Given the description of an element on the screen output the (x, y) to click on. 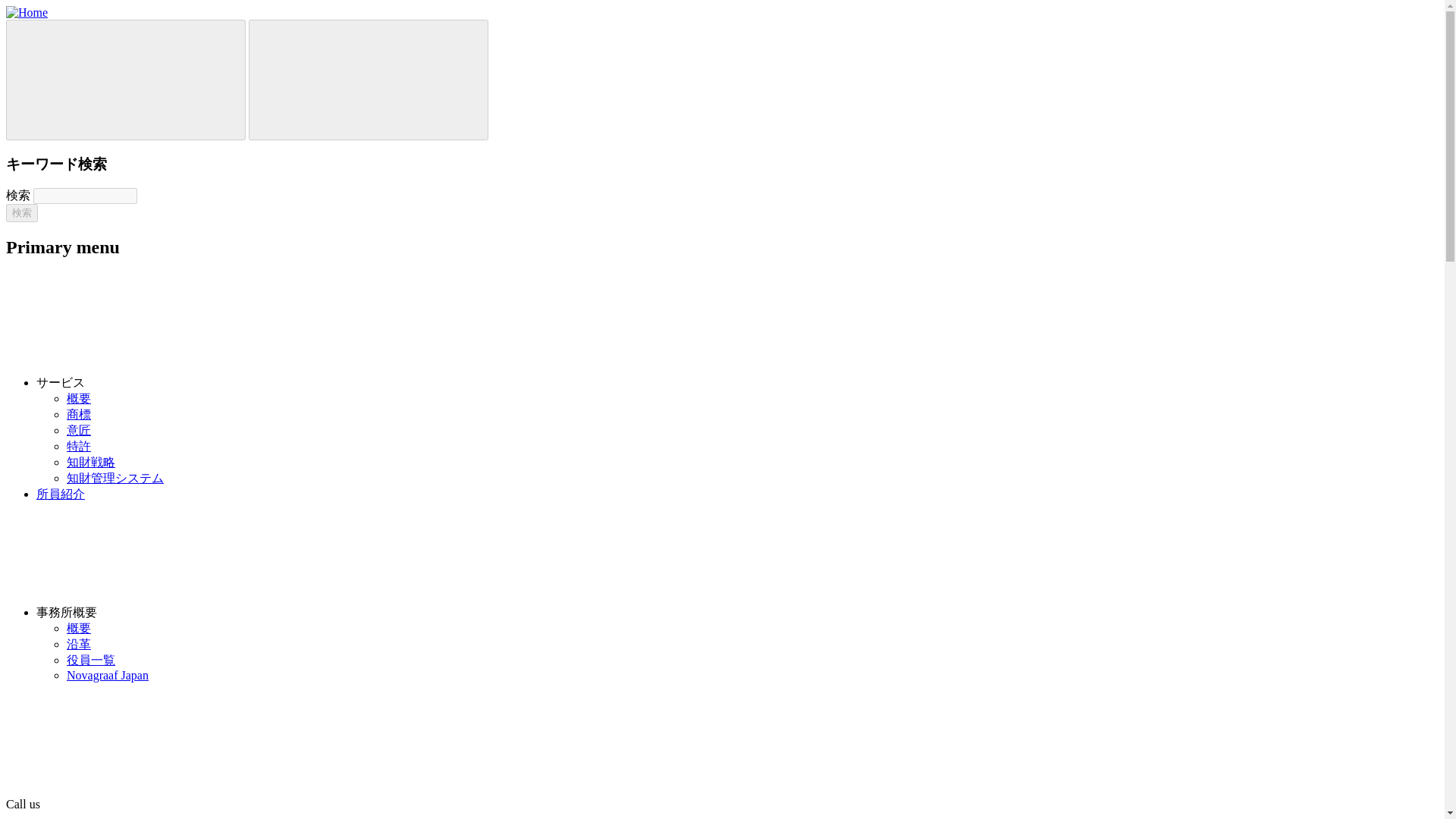
Call us (137, 803)
Enter the terms you wish to search for. (84, 195)
Home (26, 11)
Novagraaf Japan (107, 675)
